Given the description of an element on the screen output the (x, y) to click on. 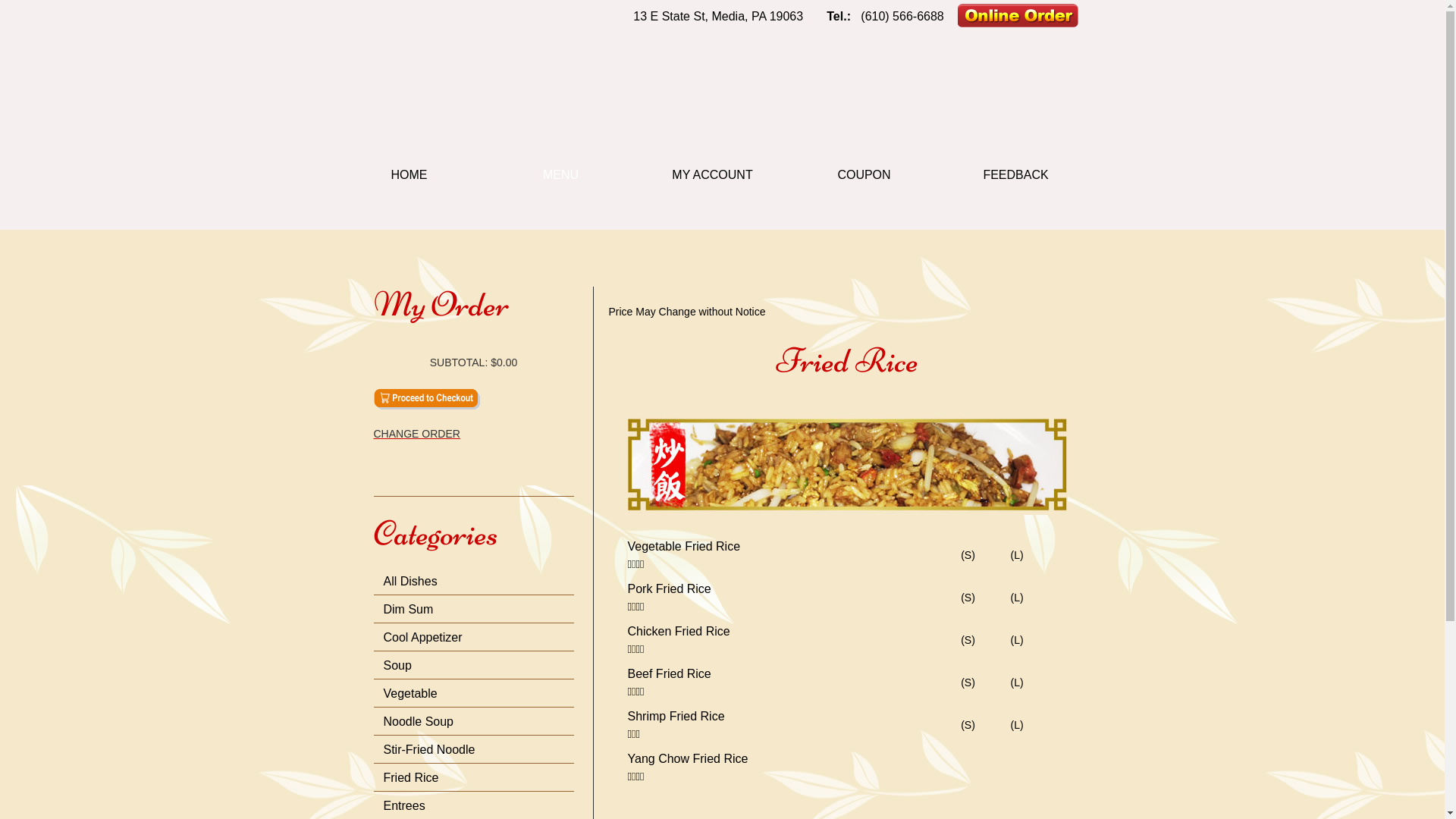
Cool Appetizer Element type: text (422, 636)
Vegetable Element type: text (410, 693)
HOME Element type: text (409, 175)
Entrees Element type: text (404, 805)
All Dishes Element type: text (410, 580)
Dim Sum Element type: text (408, 608)
COUPON Element type: text (864, 175)
Fried Rice Element type: text (411, 777)
MY ACCOUNT Element type: text (712, 175)
Soup Element type: text (397, 664)
Stir-Fried Noodle Element type: text (429, 749)
MENU Element type: text (561, 175)
Noodle Soup Element type: text (418, 721)
CHANGE ORDER Element type: text (473, 433)
FEEDBACK Element type: text (1016, 175)
